Given the description of an element on the screen output the (x, y) to click on. 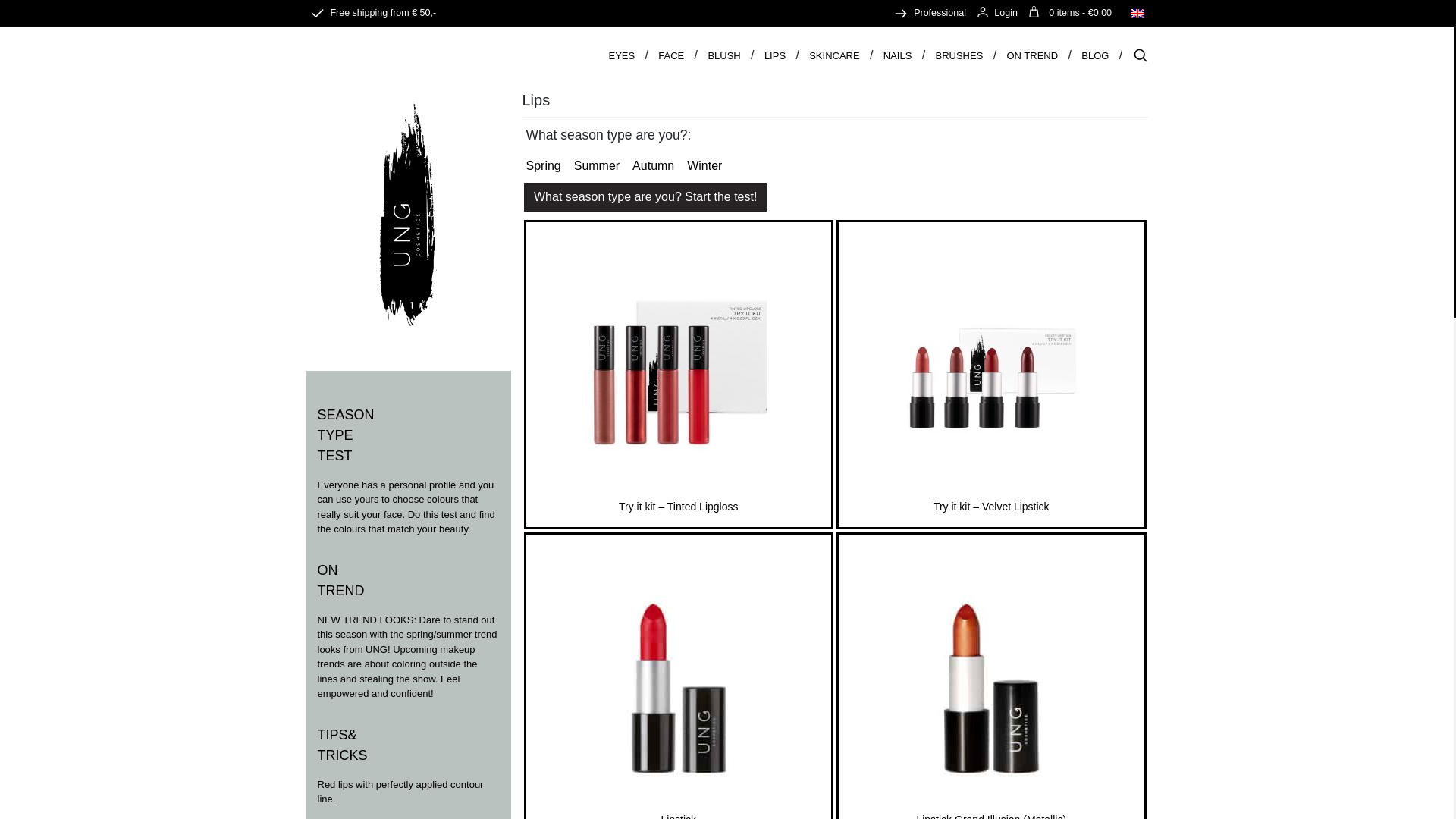
EYES (621, 55)
LIPS (775, 55)
ON TREND (1032, 55)
View your shopping cart (1080, 12)
BLOG (1094, 55)
SKINCARE (834, 55)
NAILS (897, 55)
